Given the description of an element on the screen output the (x, y) to click on. 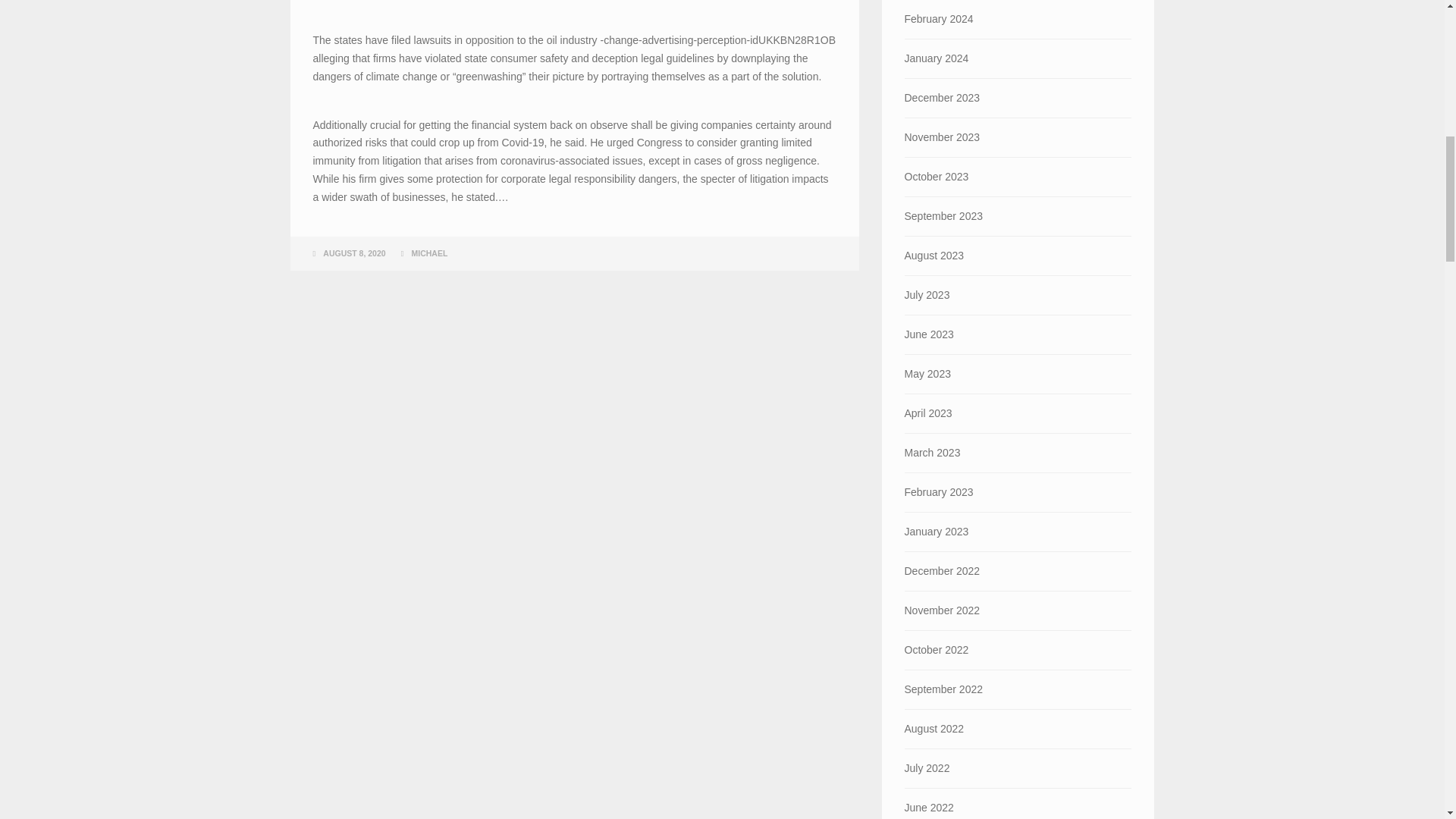
December 2022 (1017, 571)
May 2023 (1017, 373)
June 2023 (1017, 334)
November 2023 (1017, 137)
December 2023 (1017, 97)
November 2022 (1017, 610)
AUGUST 8, 2020 (354, 252)
January 2024 (1017, 58)
July 2023 (1017, 295)
September 2023 (1017, 216)
